Given the description of an element on the screen output the (x, y) to click on. 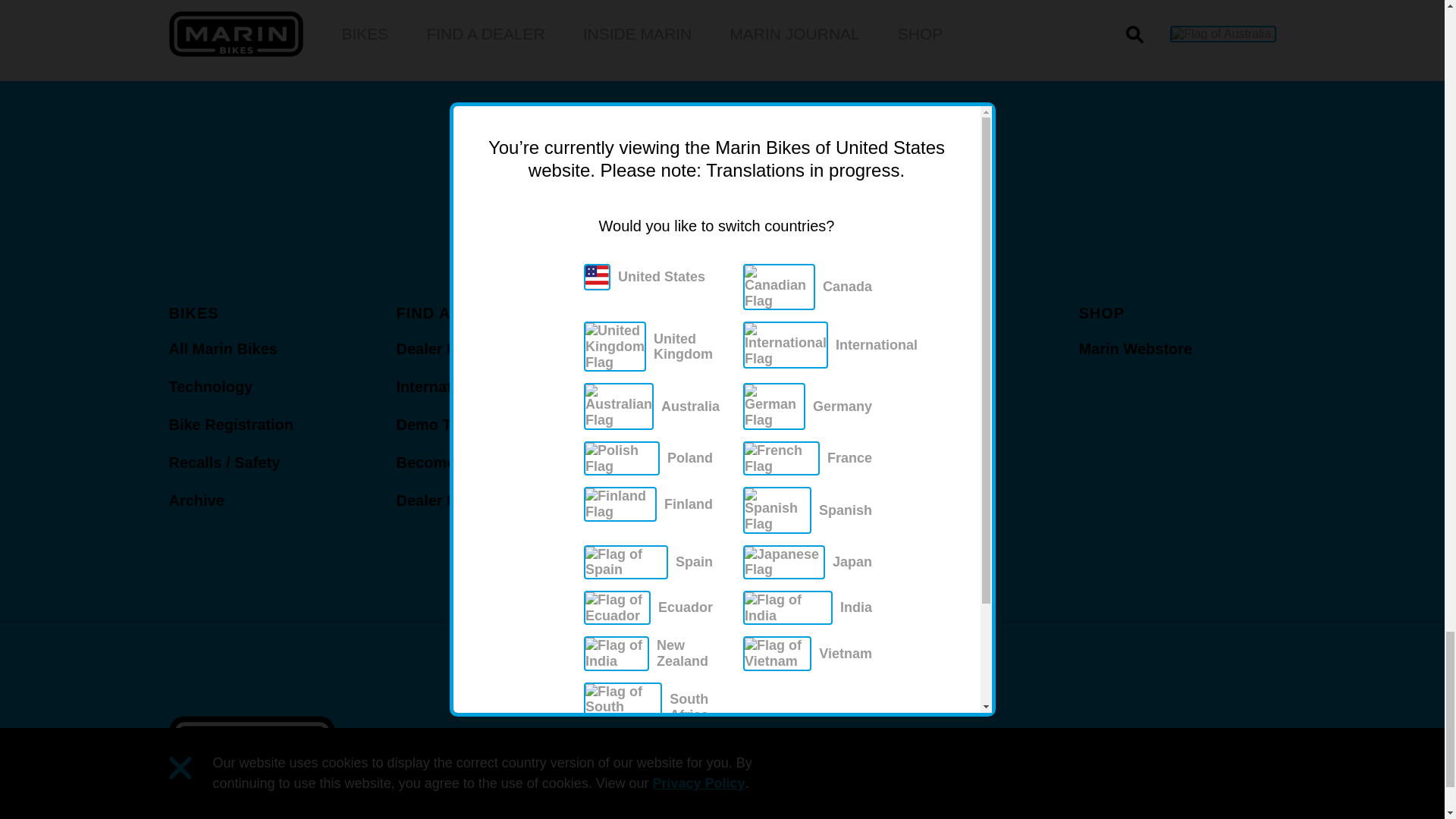
Archive (196, 499)
Technology (209, 385)
Bike Registration (230, 423)
All Marin Bikes (222, 347)
International Distributors (486, 385)
Dealer Locator (449, 347)
SIGN UP (906, 201)
